Given the description of an element on the screen output the (x, y) to click on. 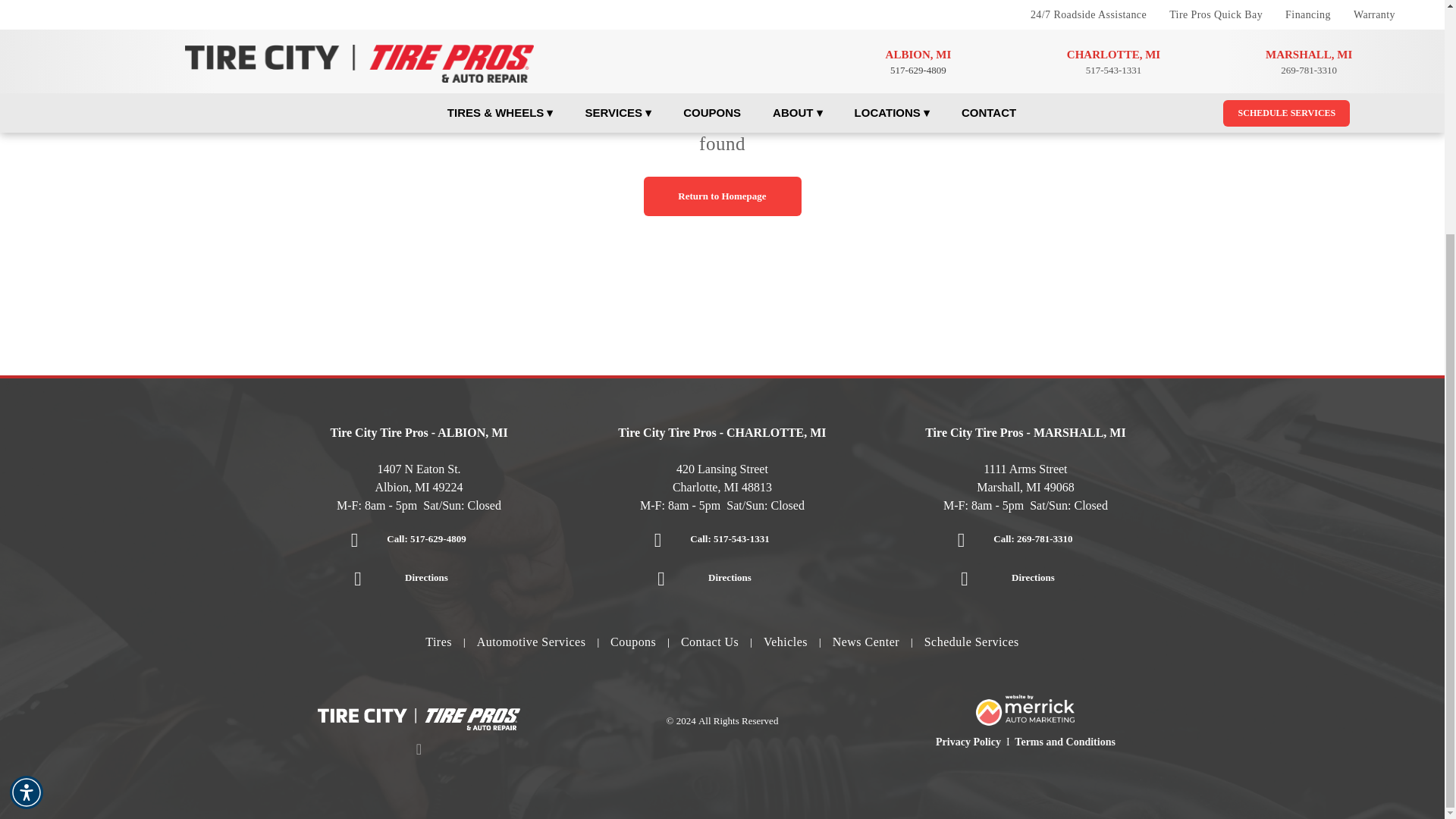
Accessibility Menu (26, 473)
Merrick Auto Marketing (1025, 710)
